Given the description of an element on the screen output the (x, y) to click on. 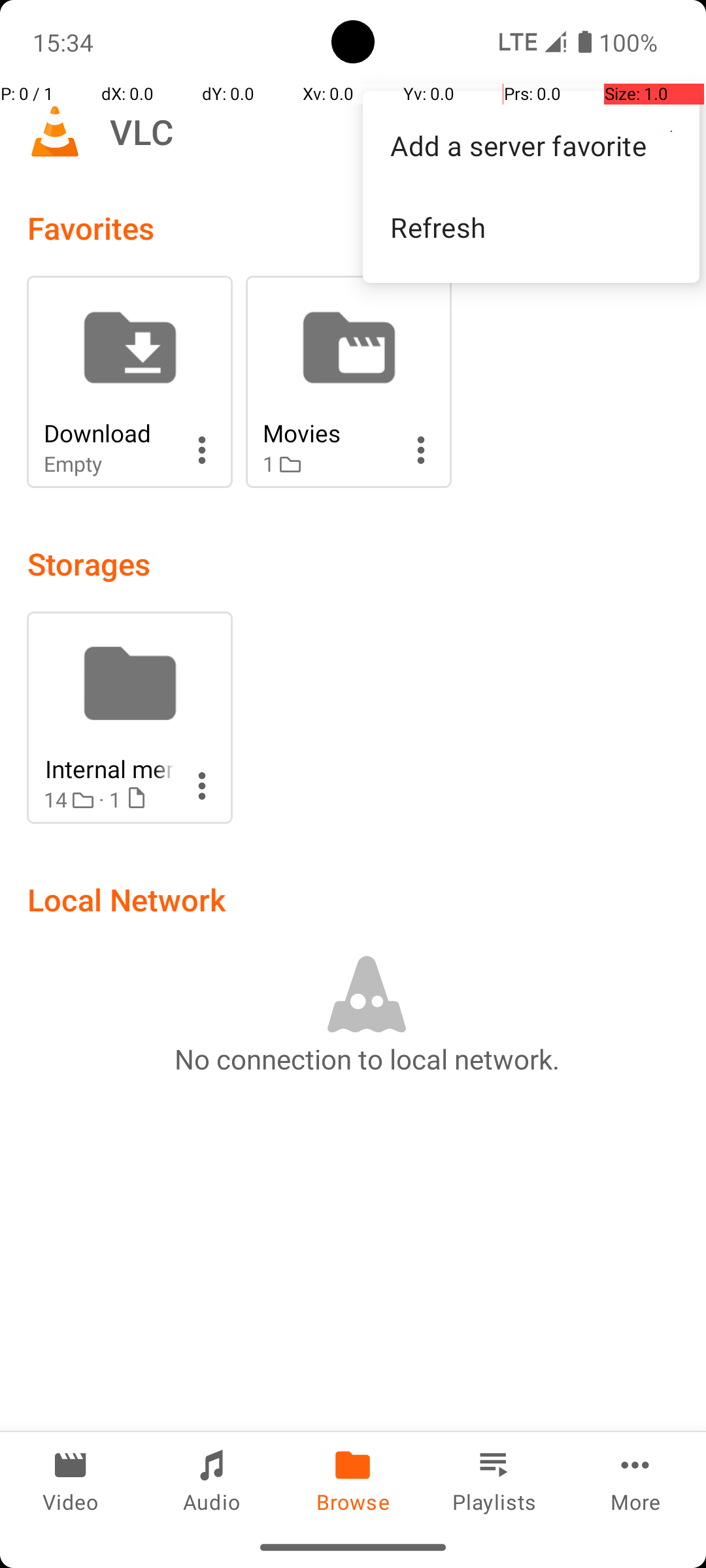
Add a server favorite Element type: android.widget.TextView (531, 144)
Refresh Element type: android.widget.TextView (531, 226)
